Given the description of an element on the screen output the (x, y) to click on. 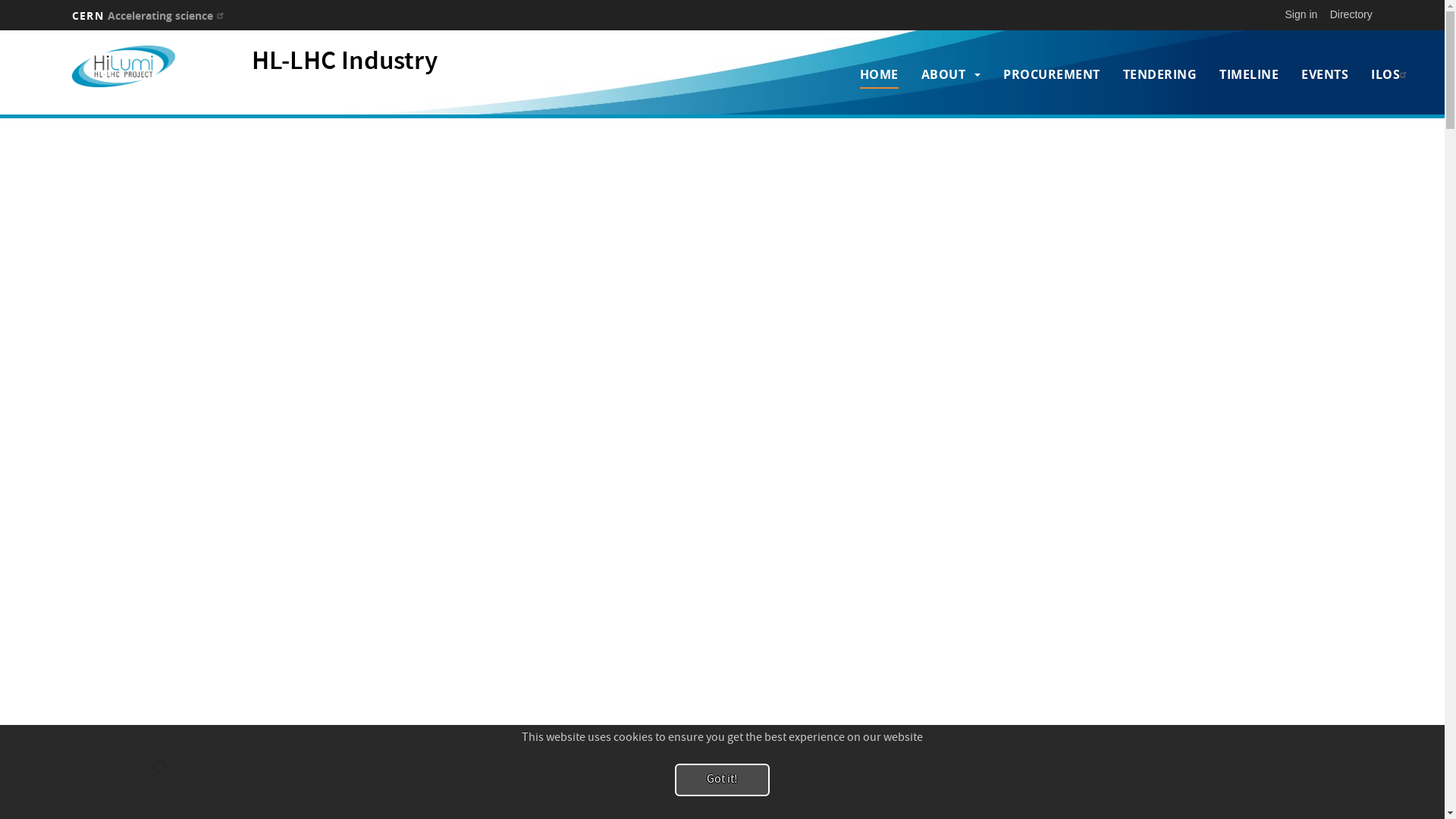
Home Element type: hover (123, 66)
PROCUREMENT Element type: text (1051, 74)
Skip to main content Element type: text (0, 30)
TIMELINE Element type: text (1248, 74)
ILOS(LINK IS EXTERNAL) Element type: text (1390, 74)
HOME Element type: text (878, 74)
TENDERING Element type: text (1160, 74)
HL-LHC Industry Element type: text (344, 62)
ABOUT Element type: text (943, 74)
Directory Element type: text (1351, 14)
CERN Accelerating science (link is external) Element type: text (149, 14)
EVENTS Element type: text (1324, 74)
Sign in Element type: text (1301, 14)
Got it! Element type: text (721, 779)
